Given the description of an element on the screen output the (x, y) to click on. 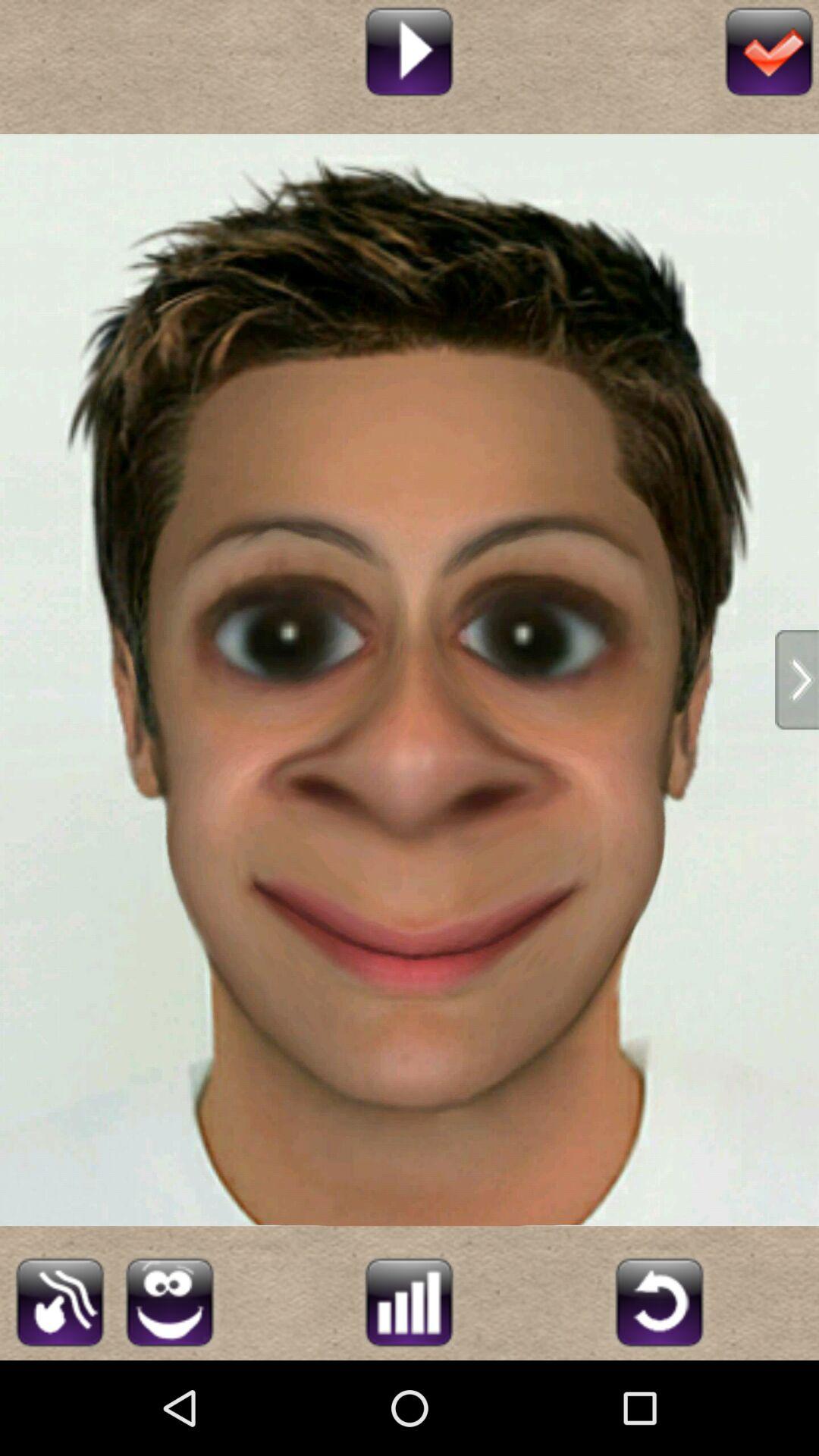
turn on the icon at the top (408, 49)
